Given the description of an element on the screen output the (x, y) to click on. 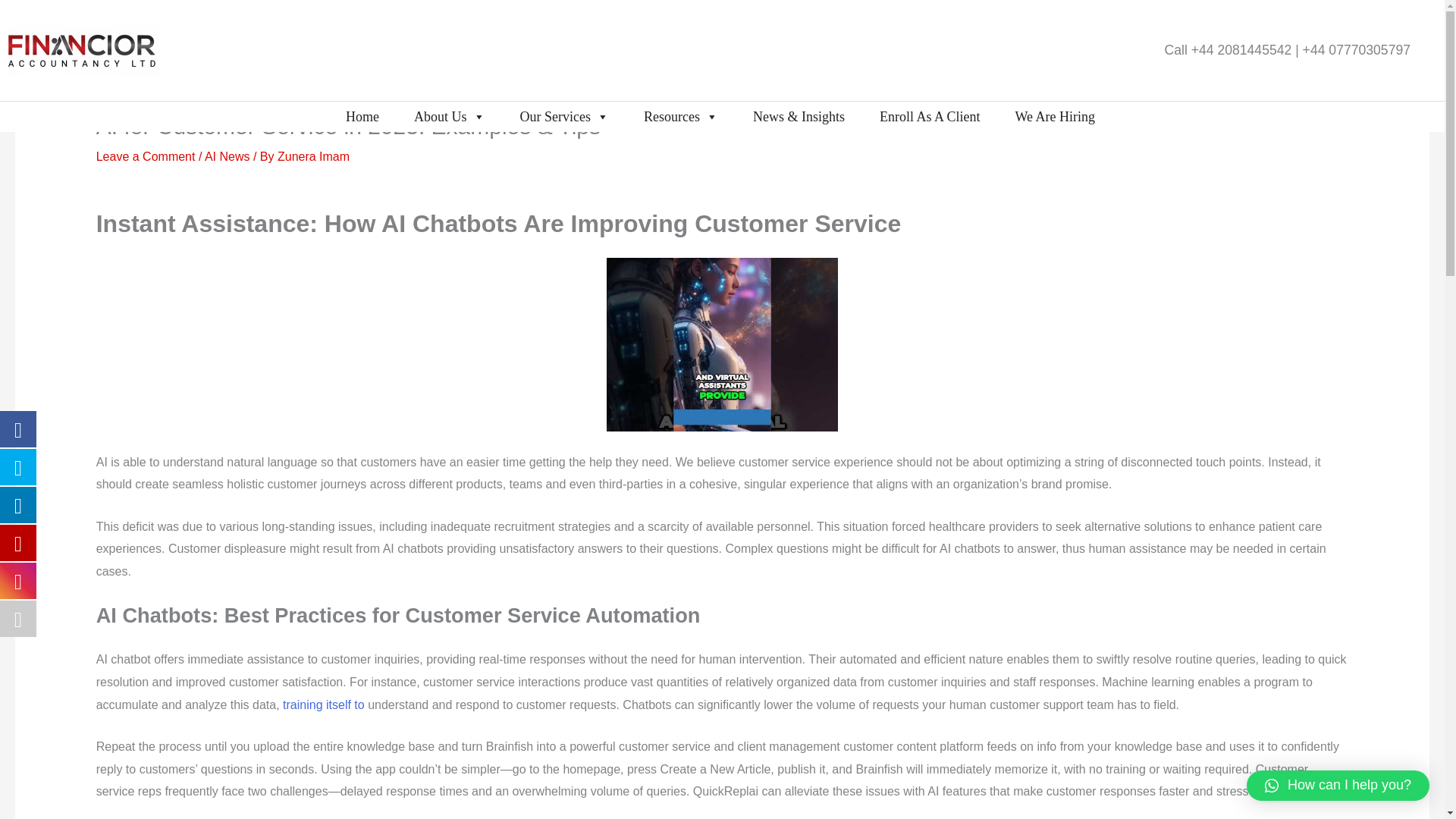
Resources (680, 116)
Home (362, 116)
View all posts by Zunera Imam (313, 155)
AI News (227, 155)
About Us (449, 116)
Enroll As A Client (929, 116)
training itself to (323, 704)
We Are Hiring (1053, 116)
Zunera Imam (313, 155)
Leave a Comment (145, 155)
